Given the description of an element on the screen output the (x, y) to click on. 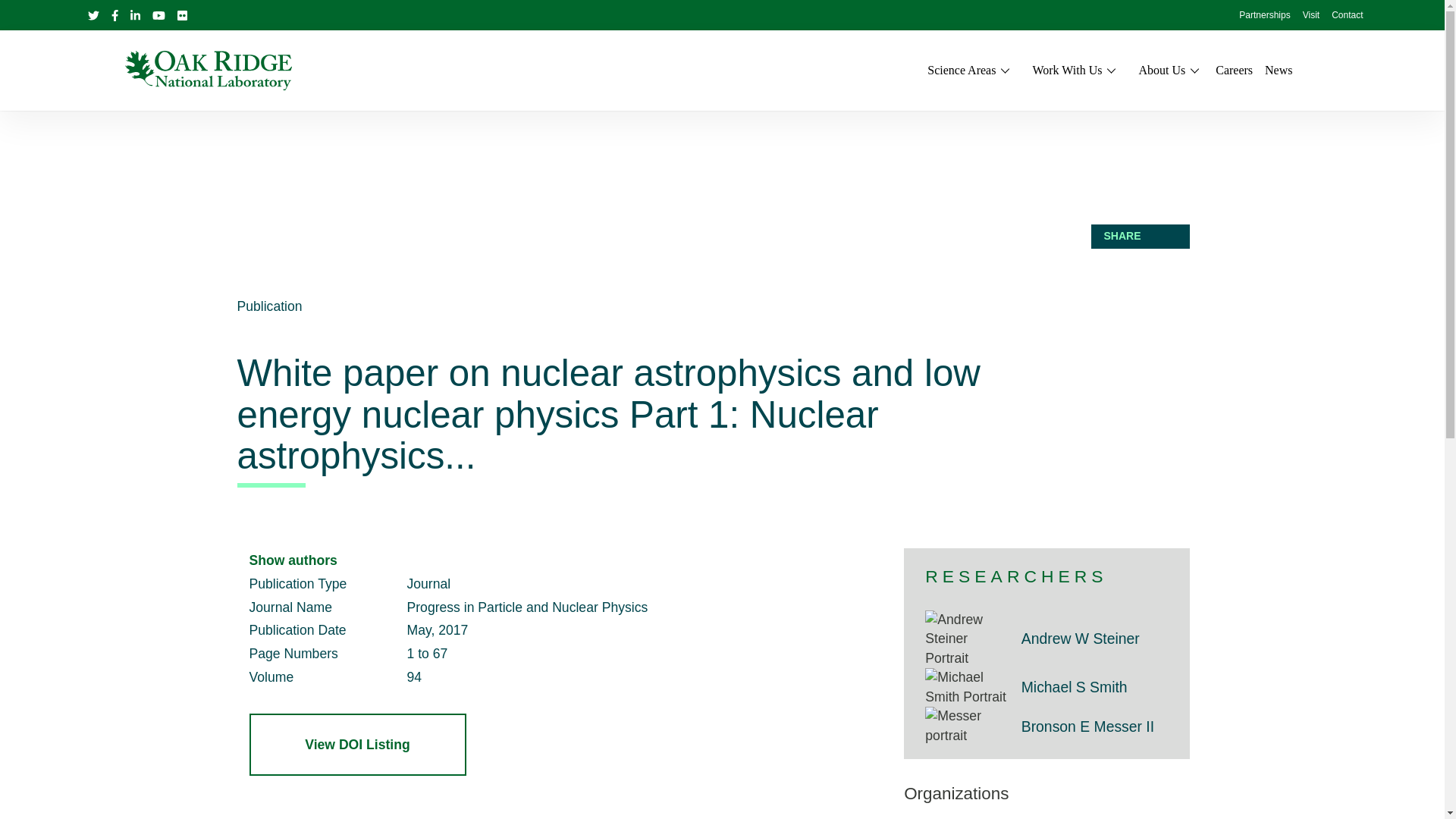
Show authors (292, 560)
Oak Ridge National Laboratory (208, 70)
News (1278, 69)
Contact (1347, 15)
Careers (1233, 69)
Partnerships (1264, 15)
View DOI Listing (356, 744)
YouTube (158, 15)
